Given the description of an element on the screen output the (x, y) to click on. 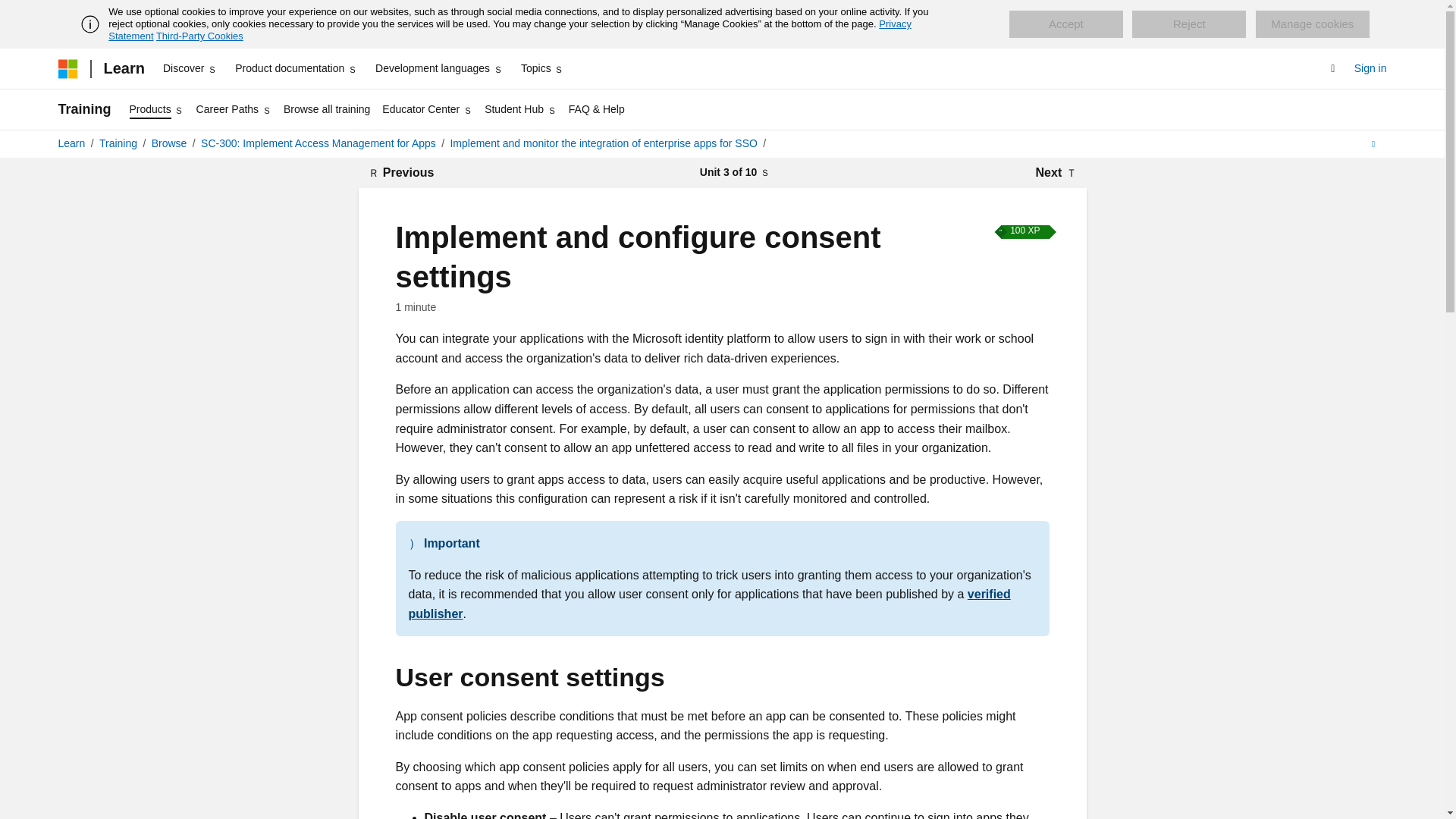
Training (84, 109)
Reject (1189, 23)
Learn (123, 68)
Topics (542, 68)
Manage cookies (1312, 23)
Discover (189, 68)
Development languages (438, 68)
Privacy Statement (509, 29)
Skip to main content (11, 11)
Career Paths (234, 109)
Accept (1065, 23)
Products (156, 109)
Module menu (735, 172)
Product documentation (295, 68)
Sign in (1370, 68)
